Given the description of an element on the screen output the (x, y) to click on. 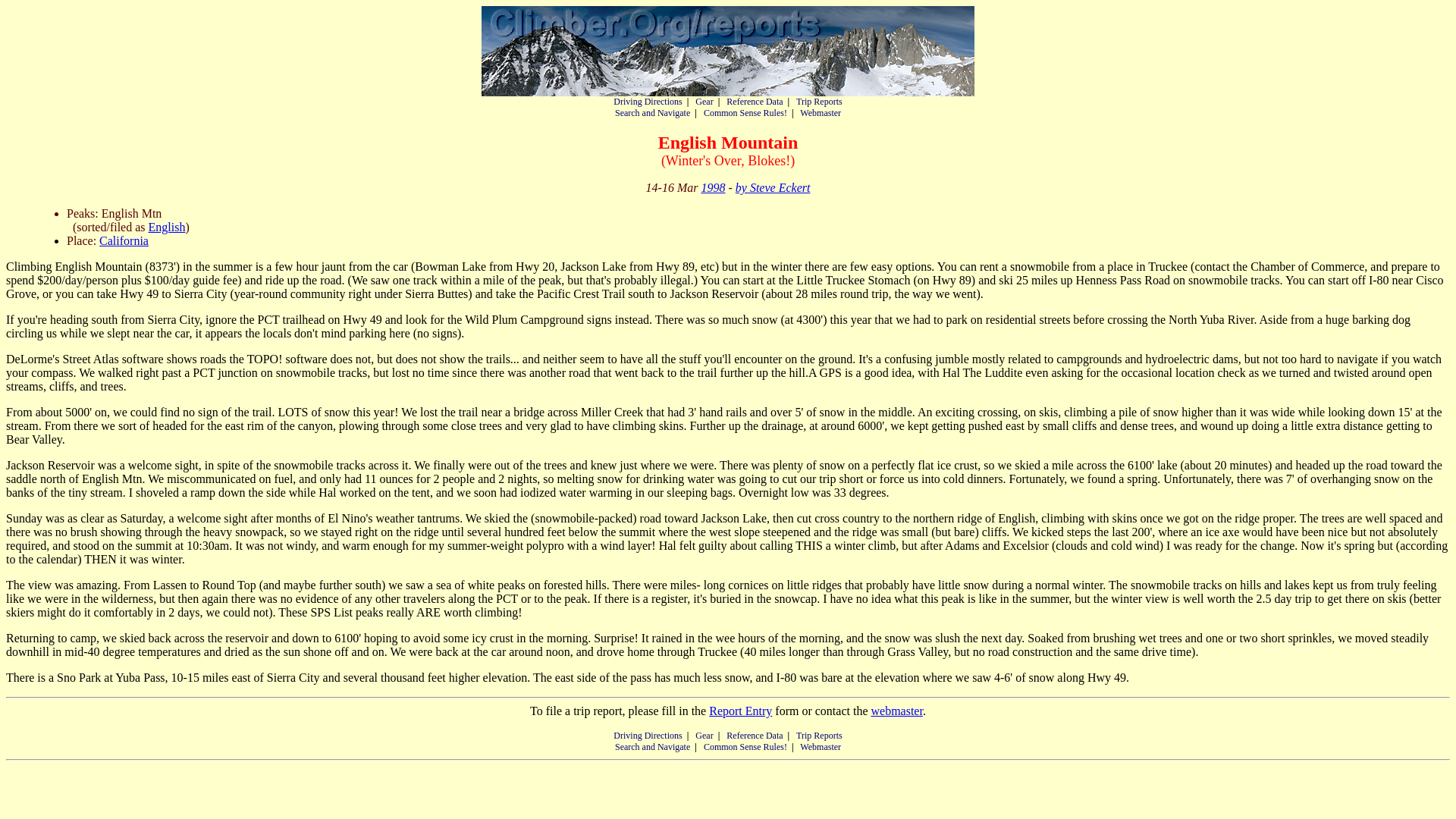
Report Entry (740, 710)
Webmaster (820, 747)
Trip Reports (819, 735)
Common Sense Rules! (745, 747)
California (123, 240)
Climber.Org Home Page (727, 50)
Reference Data (754, 735)
English (167, 226)
Gear (704, 101)
by Steve Eckert (772, 187)
Common Sense Rules! (745, 112)
Driving Directions (646, 735)
Reference Data (754, 101)
Search and Navigate (652, 112)
Driving Directions (646, 101)
